Given the description of an element on the screen output the (x, y) to click on. 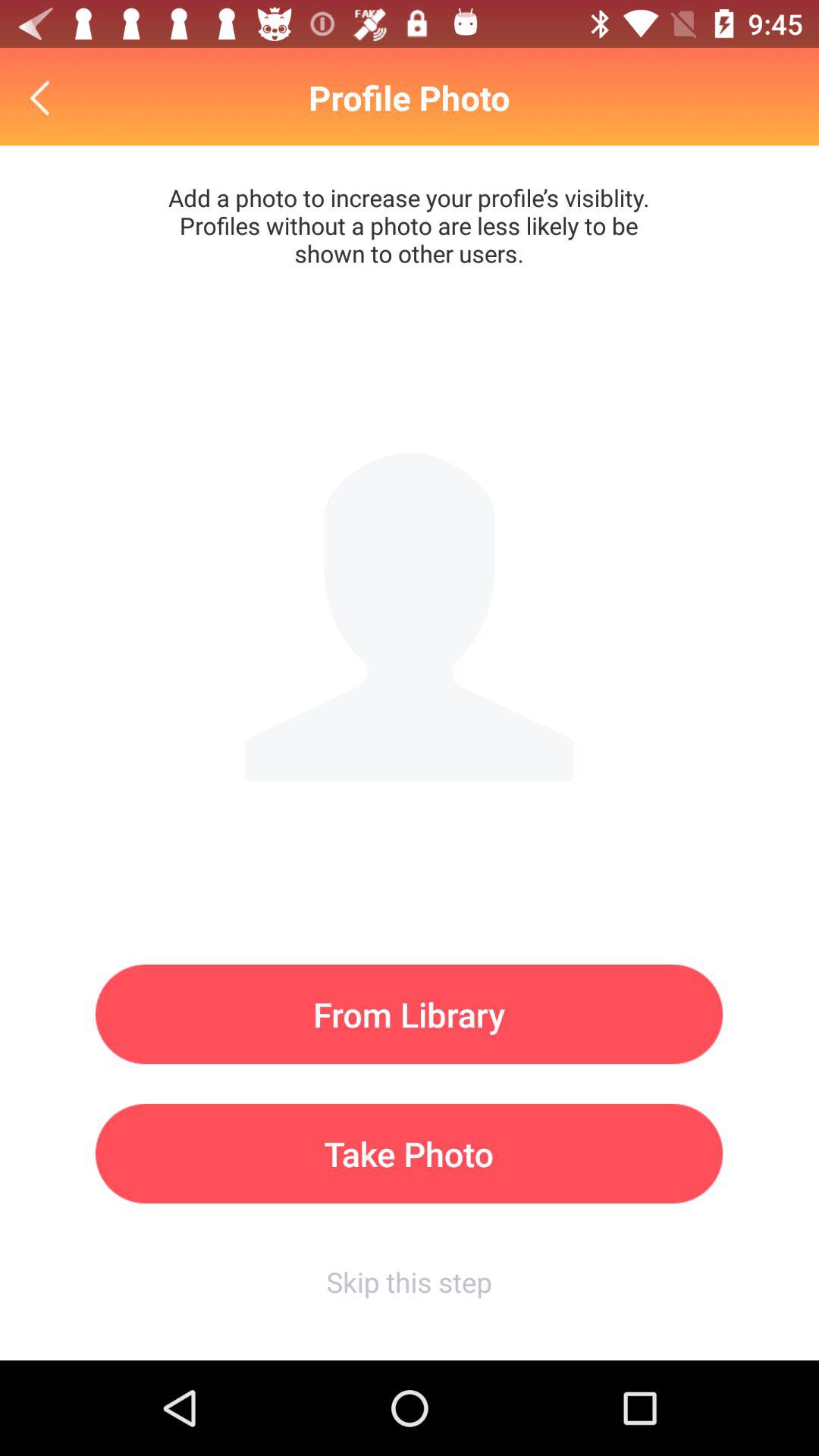
click the skip this step (408, 1281)
